Given the description of an element on the screen output the (x, y) to click on. 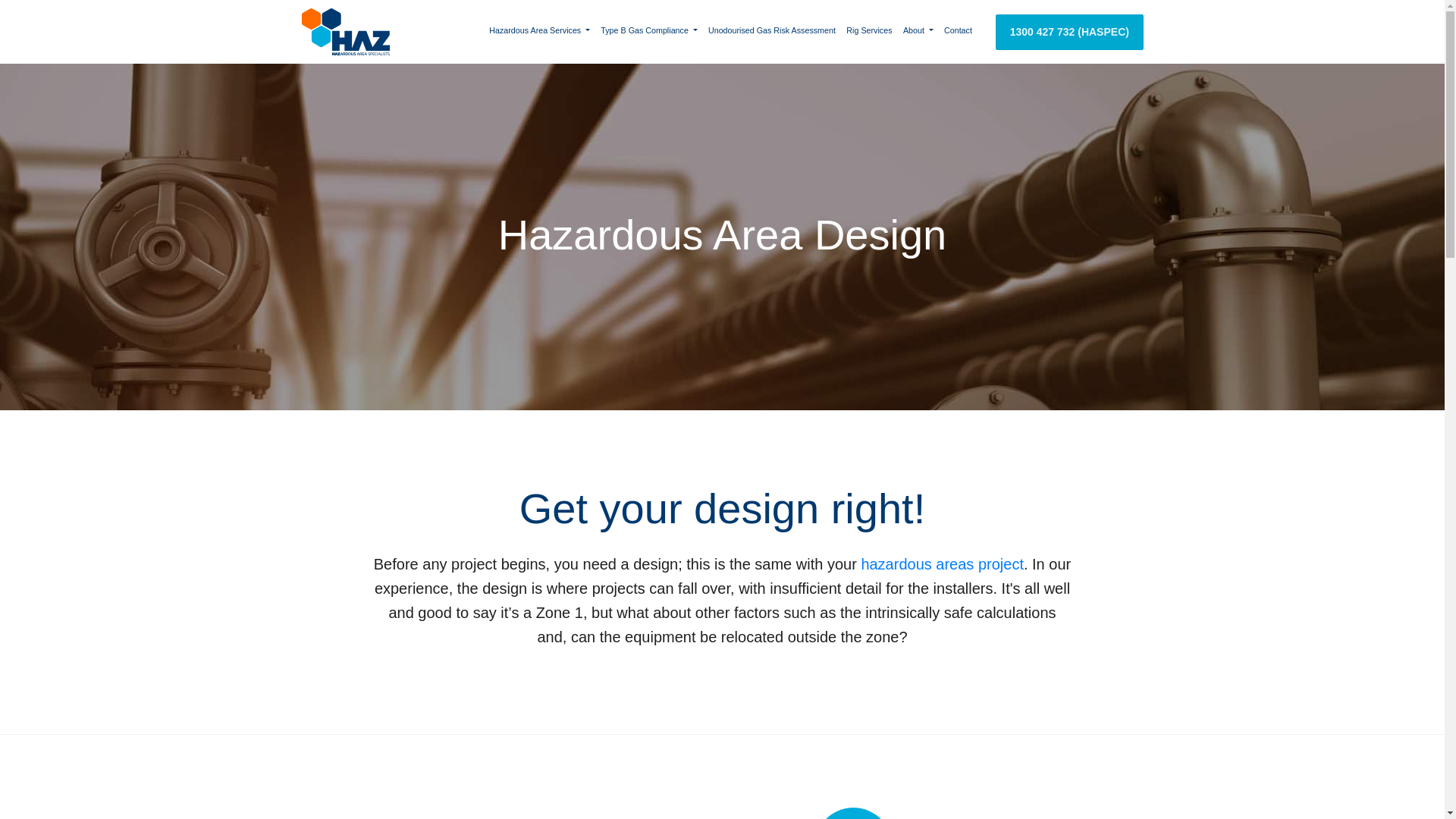
Type B Gas Compliance Element type: text (648, 31)
1300 427 732 (HASPEC) Element type: text (1068, 32)
HA Specialists - Hazardous Area & Type B Gas Specialists Element type: hover (345, 31)
hazardous areas project Element type: text (941, 563)
About Element type: text (917, 31)
Hazardous Area Services Element type: text (539, 31)
Contact Element type: text (957, 31)
Unodourised Gas Risk Assessment Element type: text (771, 31)
Rig Services Element type: text (868, 31)
